Given the description of an element on the screen output the (x, y) to click on. 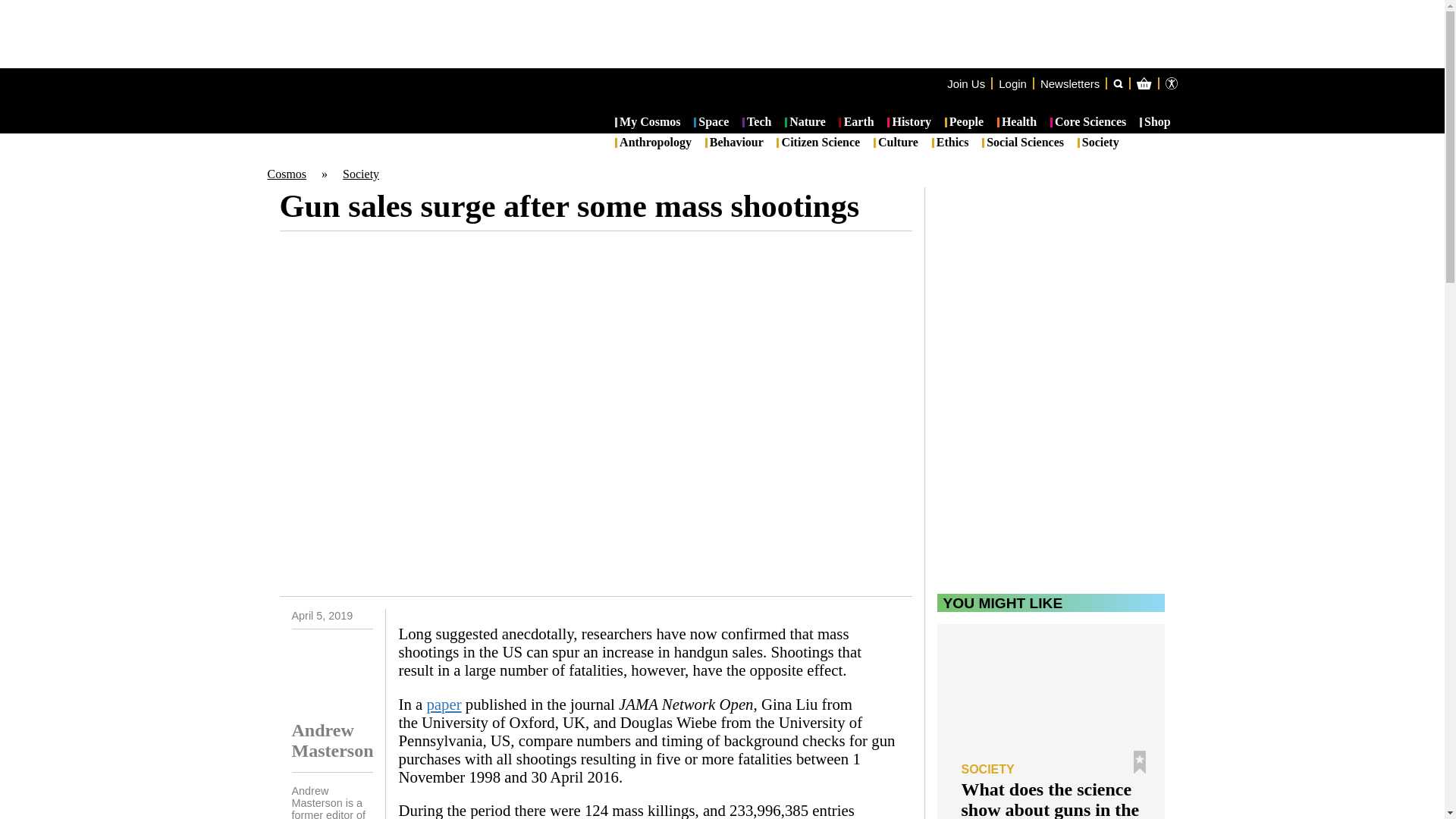
Society (1098, 143)
History (908, 122)
Join Us (966, 82)
Anthropology (652, 143)
Shop (1155, 122)
Behaviour (733, 143)
Nature (804, 122)
Culture (895, 143)
Login (1012, 82)
Citizen Science (818, 143)
Cosmos (285, 173)
People (964, 122)
Core Sciences (1087, 122)
Ethics (950, 143)
Social Sciences (1022, 143)
